Given the description of an element on the screen output the (x, y) to click on. 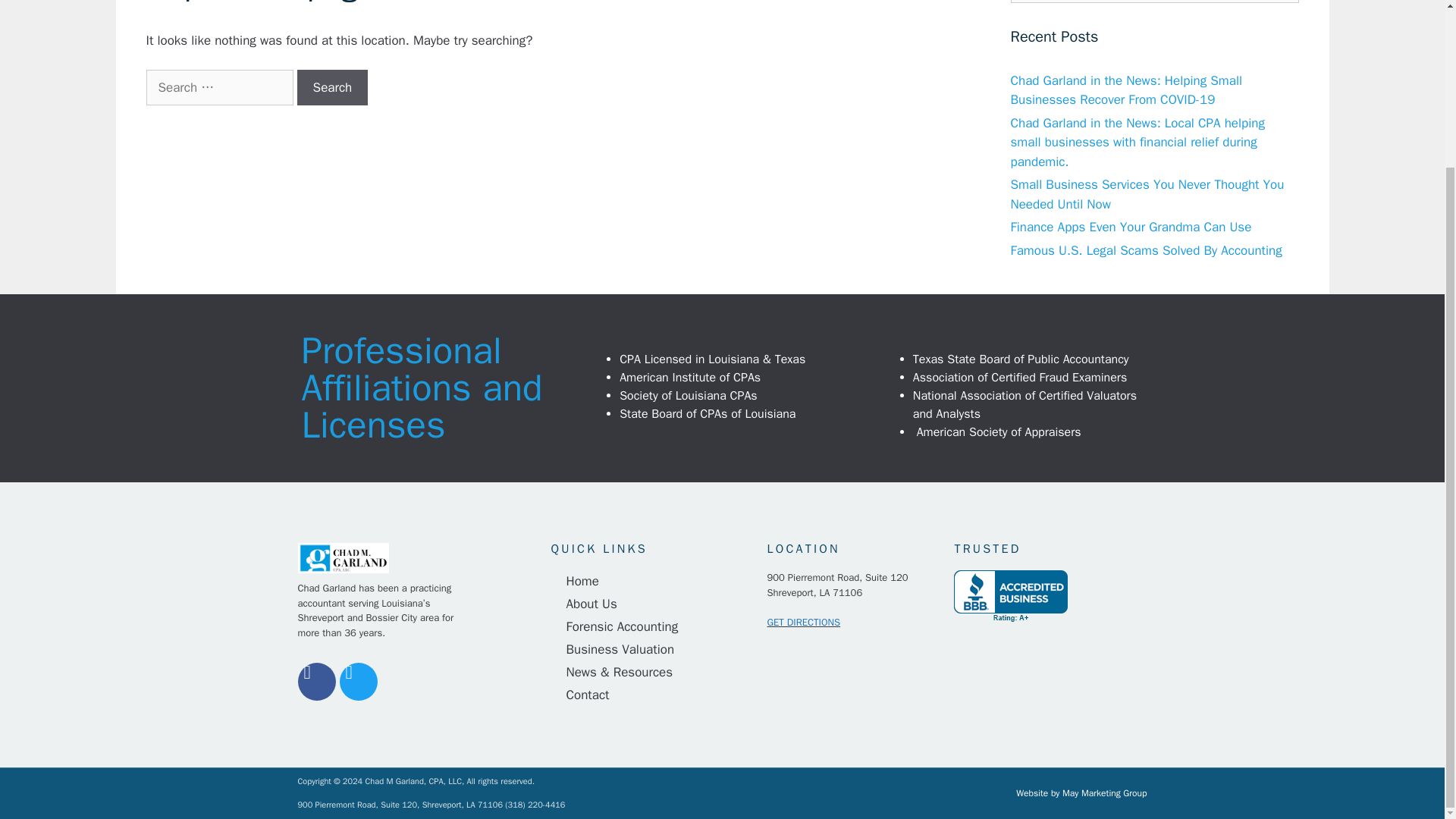
Search (332, 87)
Search for: (1154, 1)
Famous U.S. Legal Scams Solved By Accounting (1145, 250)
Search (332, 87)
Search (332, 87)
Home (650, 581)
Search for: (218, 87)
